Given the description of an element on the screen output the (x, y) to click on. 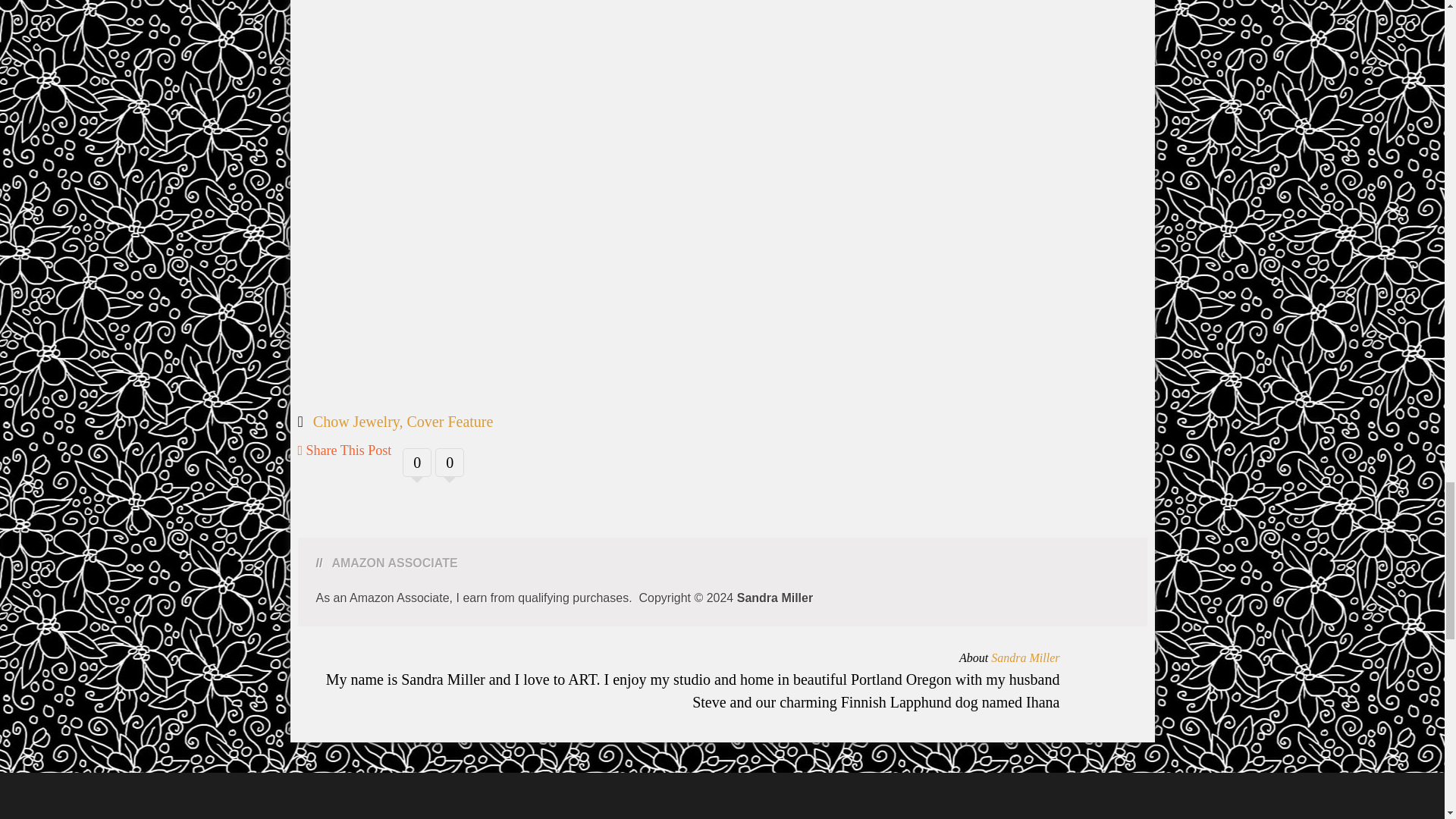
Cover Feature (449, 421)
Sandra Miller (1025, 657)
Chow Jewelry (355, 421)
